Given the description of an element on the screen output the (x, y) to click on. 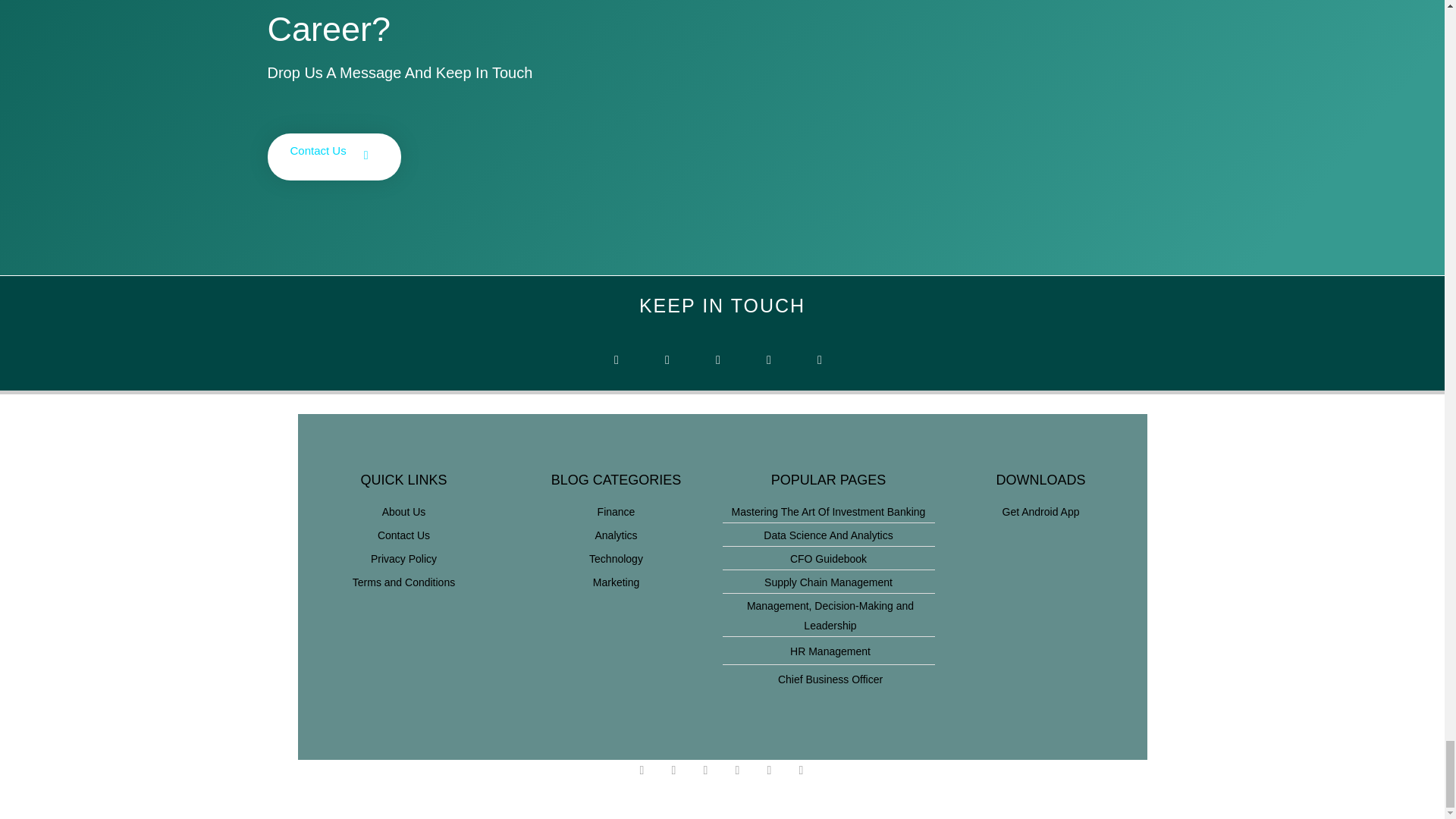
Terms and Conditions (403, 582)
Chief Business Officer (828, 679)
Privacy Policy (403, 558)
Data Science And Analytics (828, 535)
Supply Chain Management (828, 582)
Technology (615, 558)
About Us (403, 511)
Contact Us (333, 156)
Finance (615, 511)
Contact Us (403, 535)
Mastering The Art Of Investment Banking (828, 511)
Analytics (615, 535)
HR Management (828, 651)
Management, Decision-Making and Leadership (828, 615)
CFO Guidebook (828, 558)
